Given the description of an element on the screen output the (x, y) to click on. 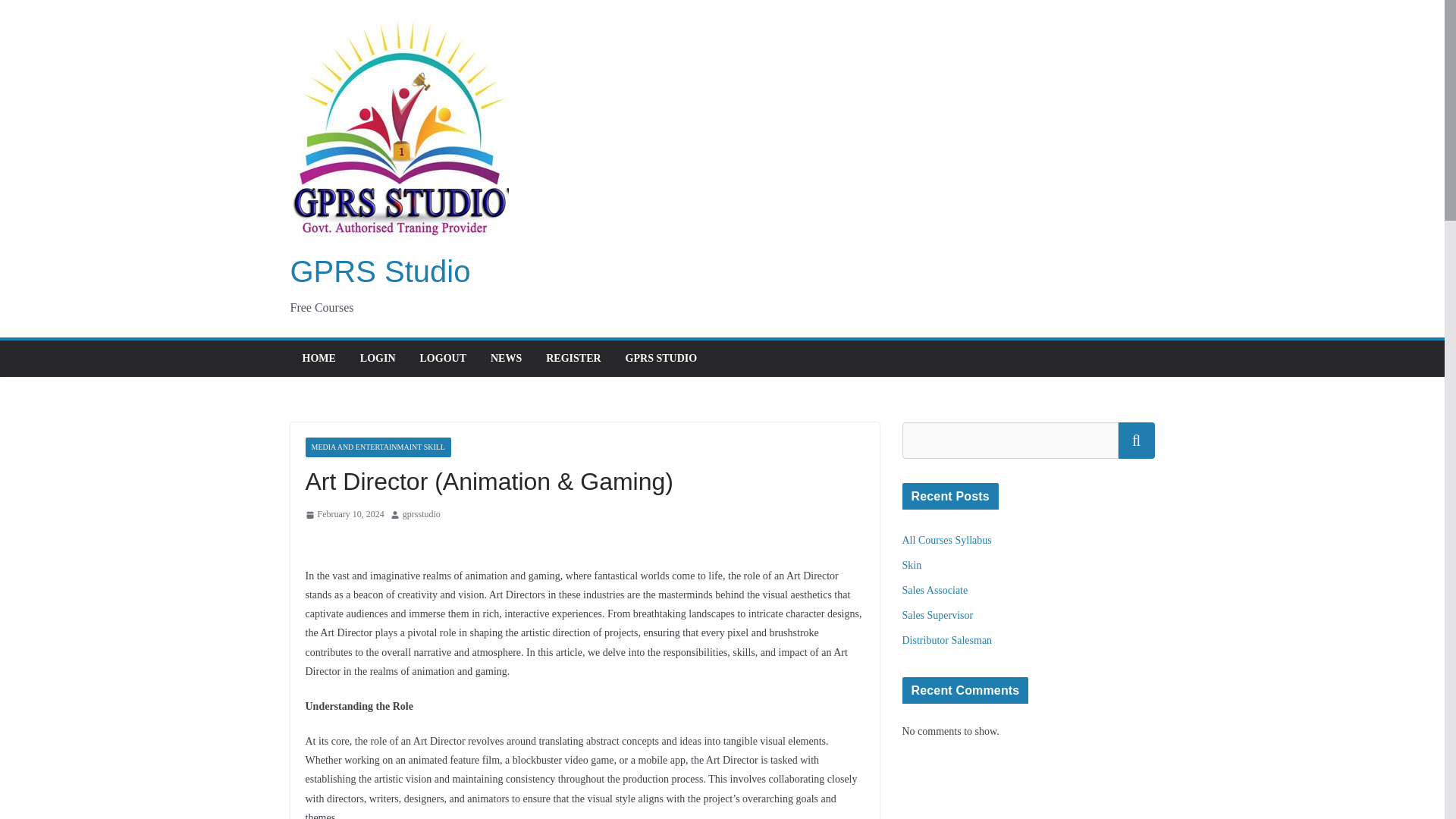
LOGIN (377, 358)
Skin (911, 564)
HOME (317, 358)
gprsstudio (422, 514)
February 10, 2024 (344, 514)
GPRS Studio (379, 271)
MEDIA AND ENTERTAINMAINT SKILL (376, 447)
4:53 am (344, 514)
All Courses Syllabus (946, 540)
GPRS Studio (379, 271)
